Given the description of an element on the screen output the (x, y) to click on. 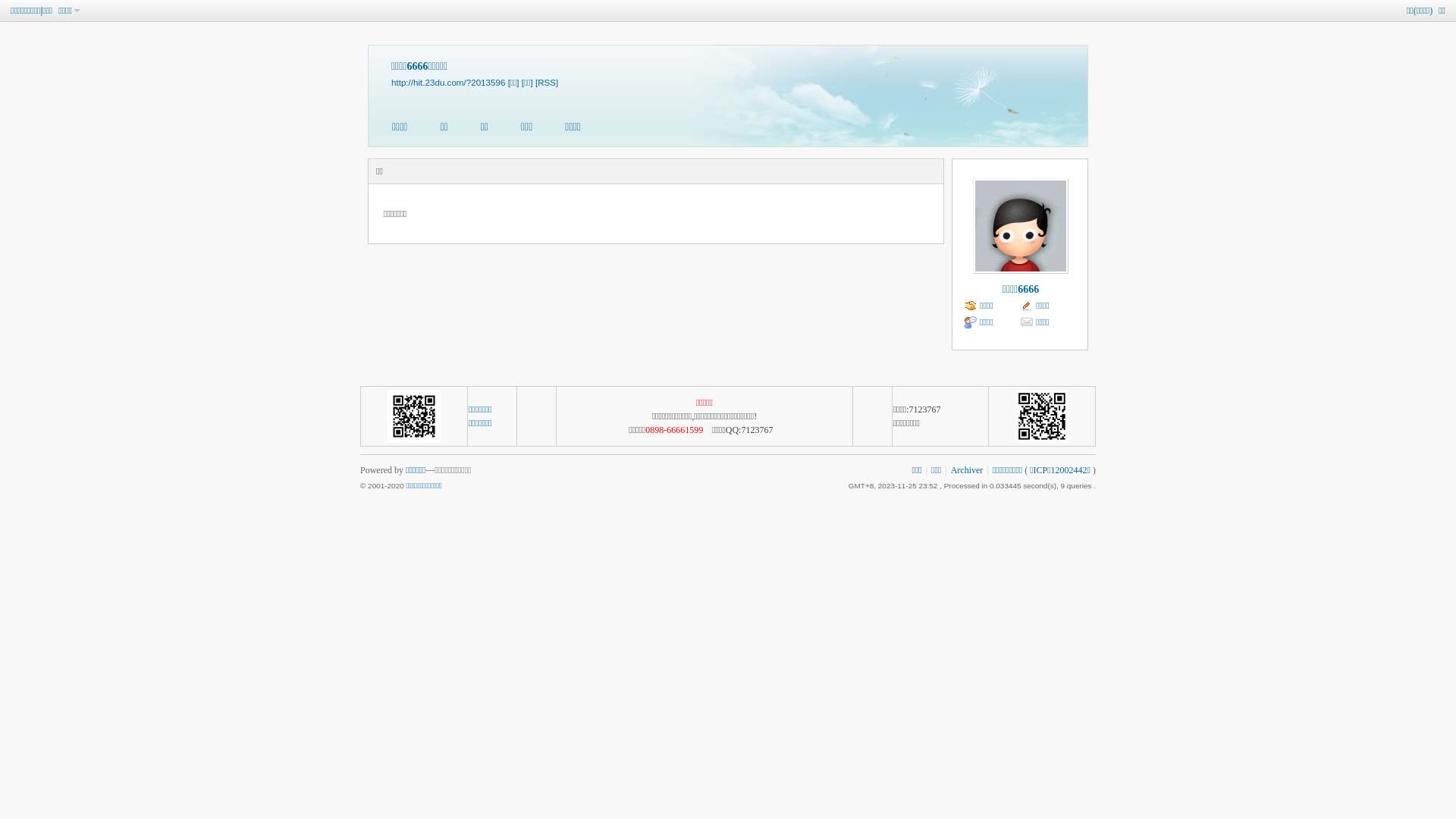
[RSS] Element type: text (546, 82)
http://hit.23du.com/?2013596 Element type: text (448, 82)
Archiver Element type: text (966, 469)
